Given the description of an element on the screen output the (x, y) to click on. 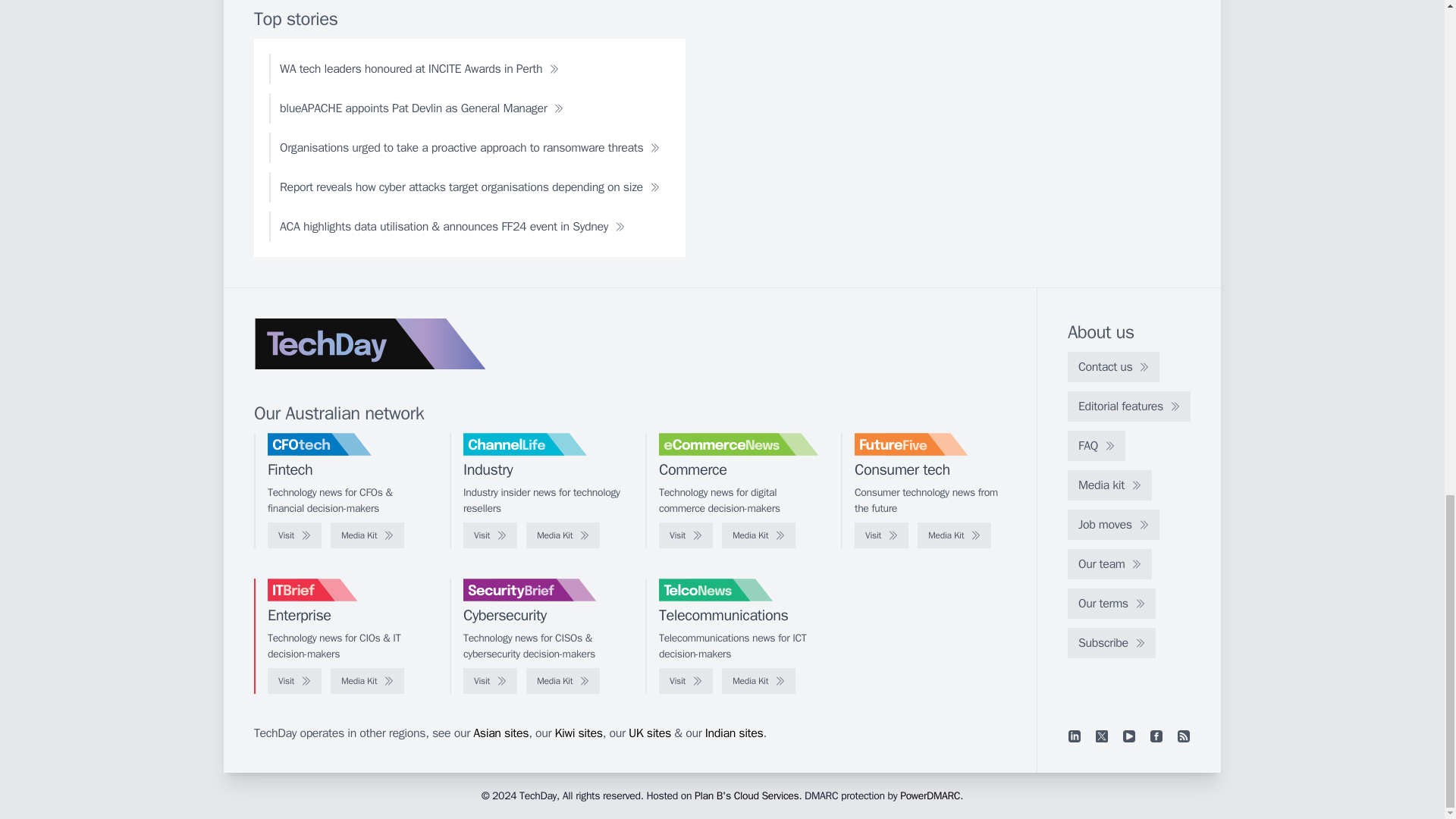
WA tech leaders honoured at INCITE Awards in Perth (419, 69)
Visit (489, 534)
Visit (294, 534)
Media Kit (367, 534)
Visit (686, 534)
Media Kit (562, 534)
blueAPACHE appoints Pat Devlin as General Manager (421, 108)
Media Kit (954, 534)
Media Kit (758, 534)
Visit (881, 534)
